Given the description of an element on the screen output the (x, y) to click on. 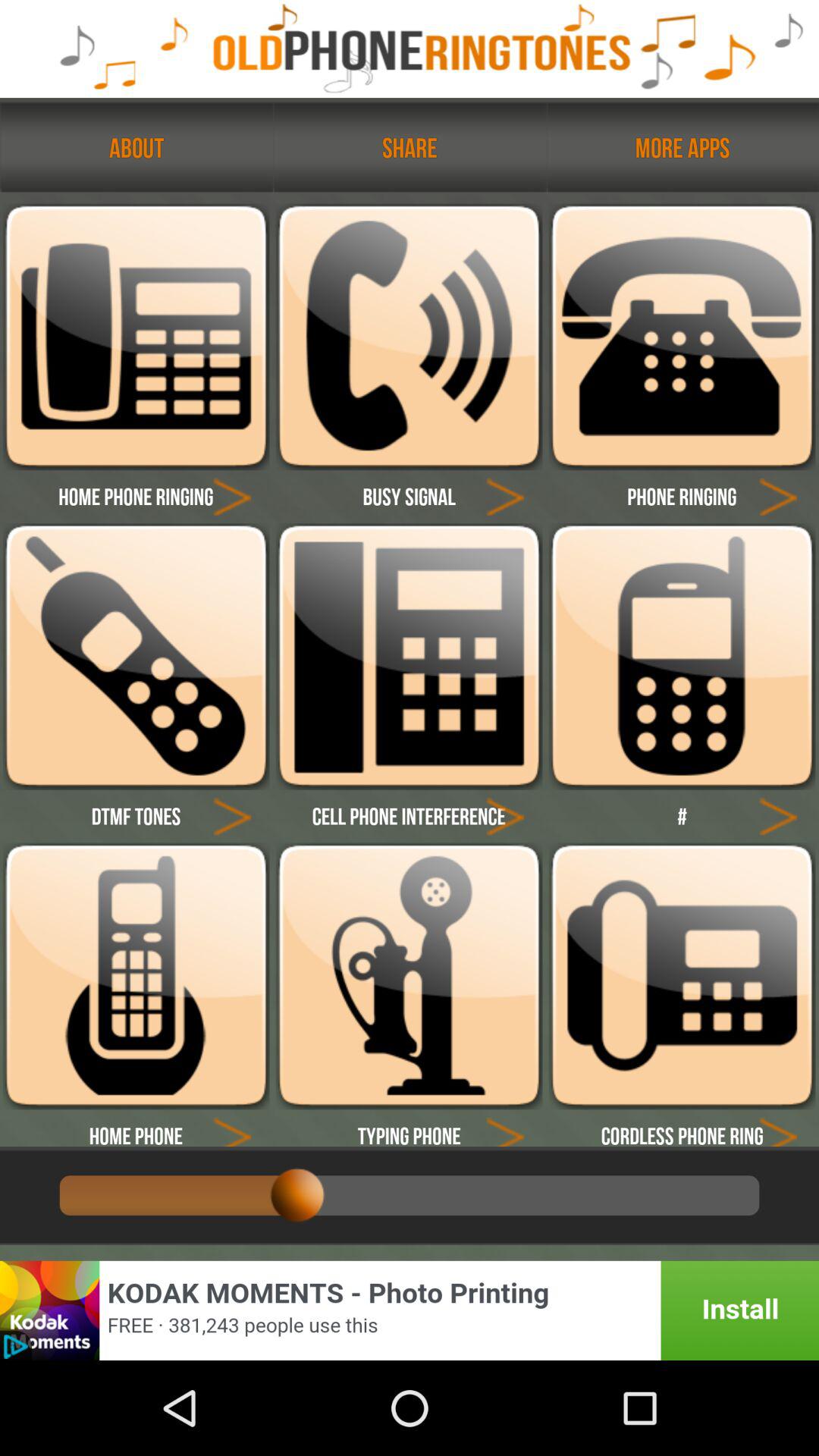
click the phone button (681, 336)
